Given the description of an element on the screen output the (x, y) to click on. 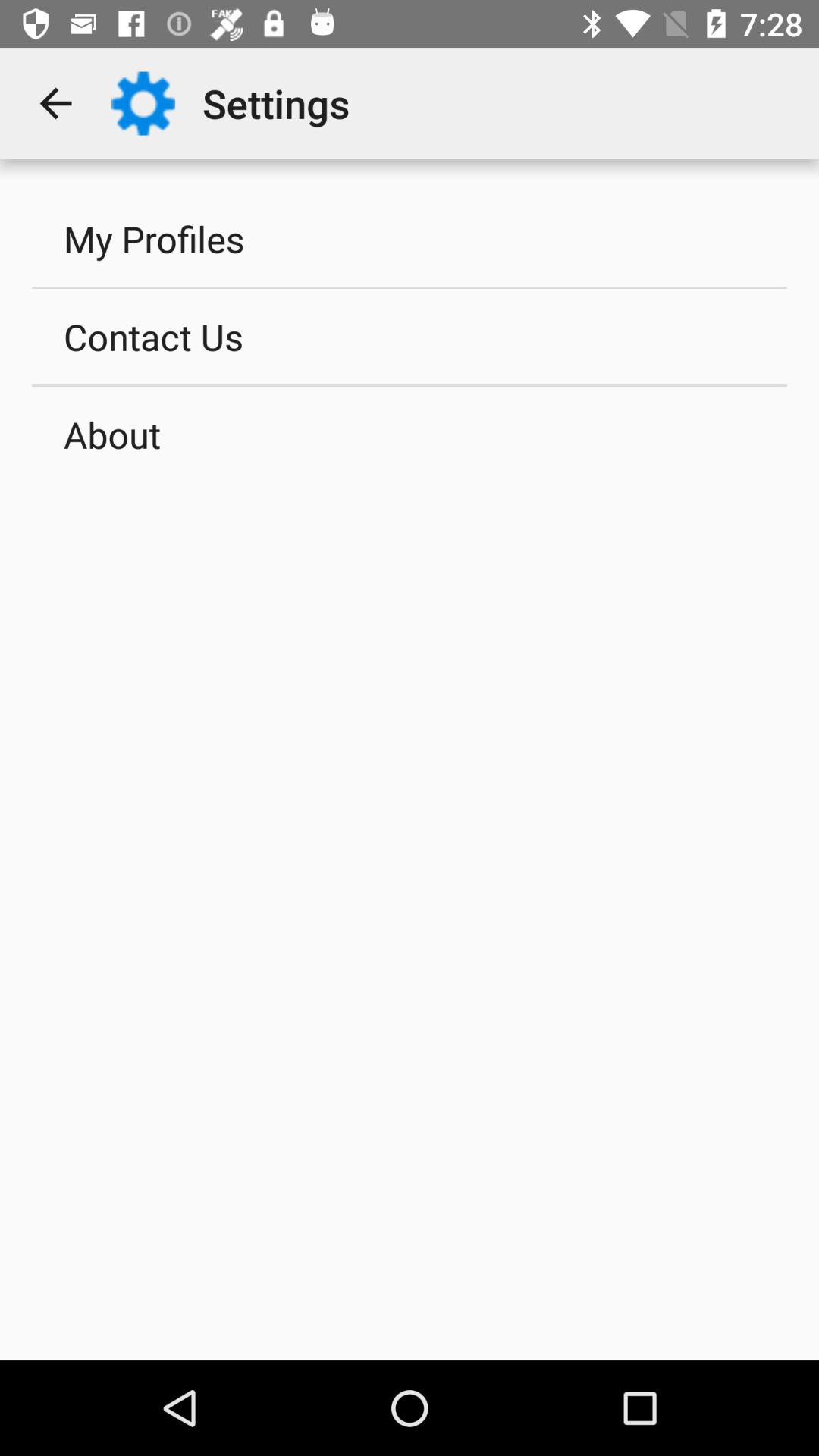
flip until contact us (409, 336)
